Given the description of an element on the screen output the (x, y) to click on. 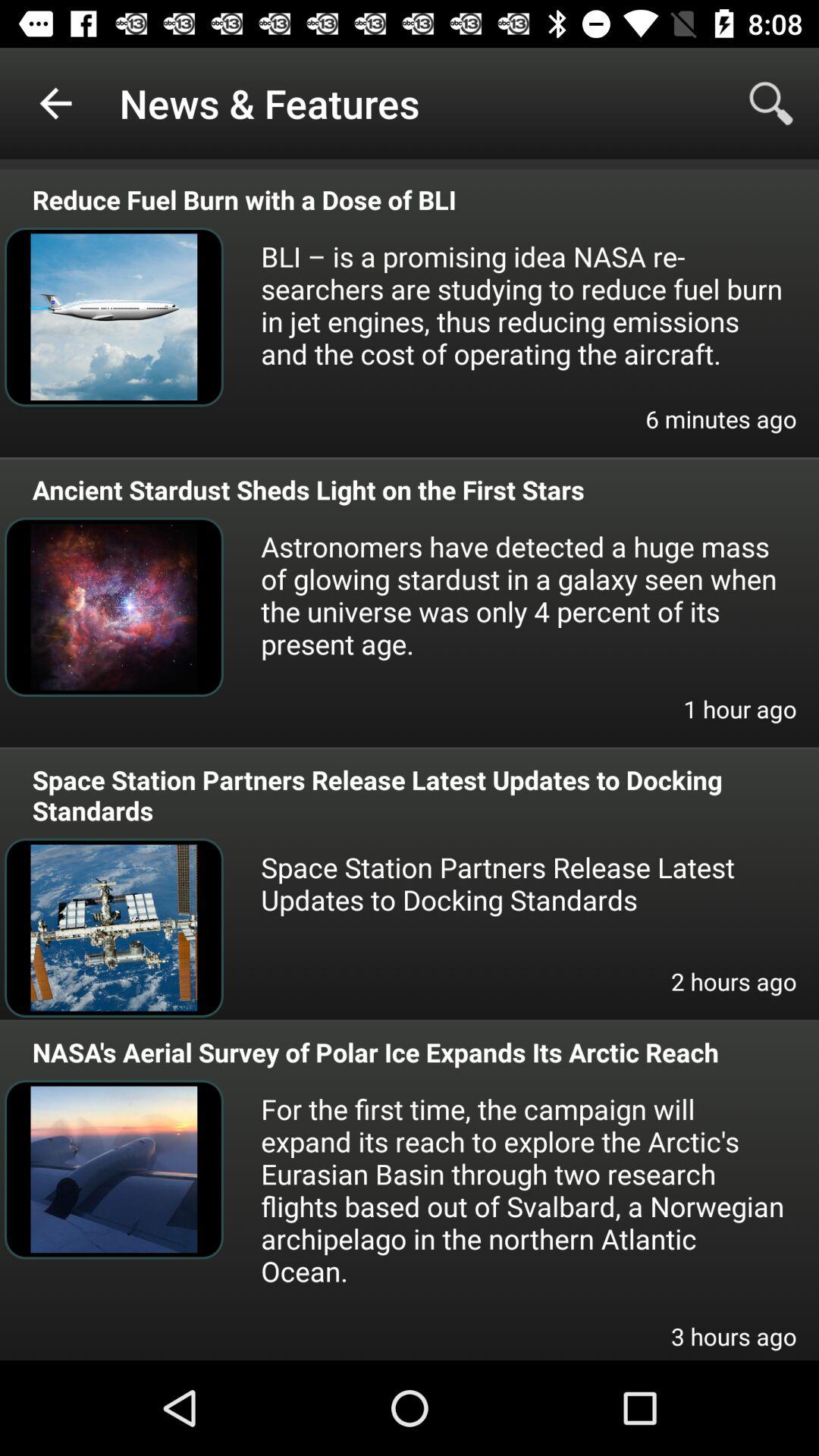
turn off item to the right of news & features icon (771, 103)
